Given the description of an element on the screen output the (x, y) to click on. 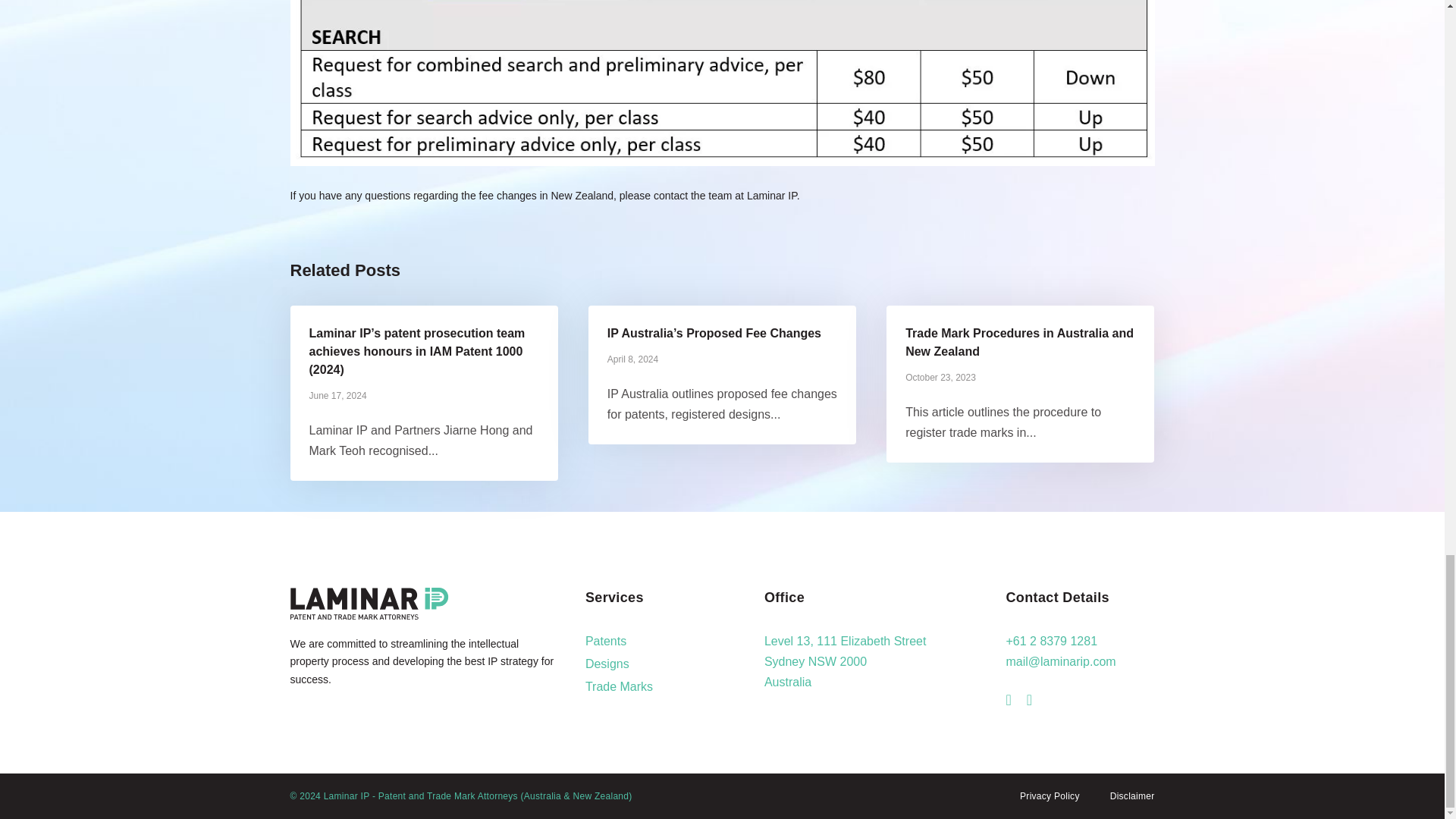
Trade Marks (618, 686)
June 17, 2024 (337, 395)
Designs (606, 663)
April 8, 2024 (632, 358)
Trade Mark Procedures in Australia and New Zealand  (1019, 341)
October 23, 2023 (940, 377)
Patents (605, 640)
Privacy Policy (1050, 796)
